Given the description of an element on the screen output the (x, y) to click on. 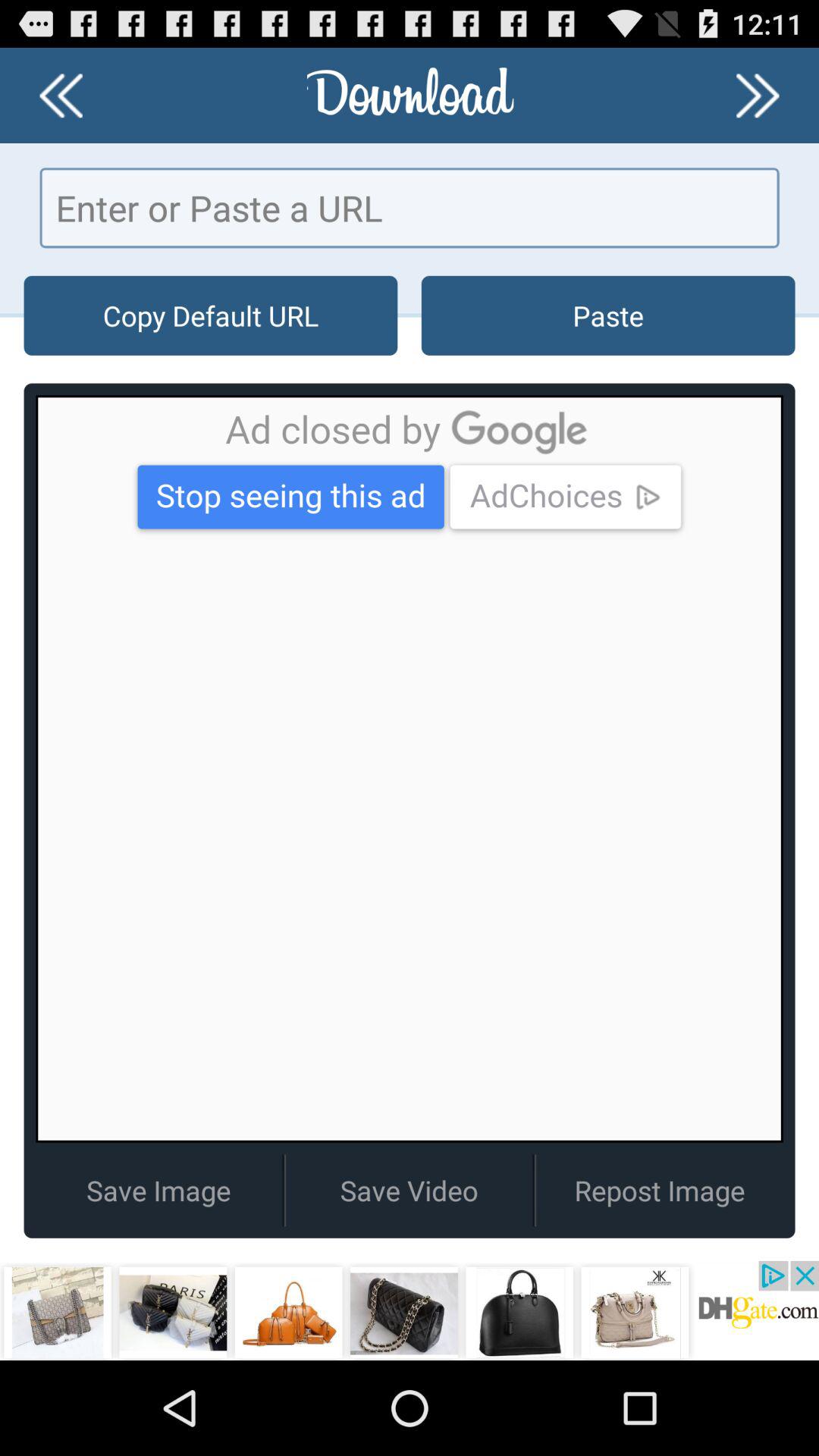
go to next (757, 95)
